Given the description of an element on the screen output the (x, y) to click on. 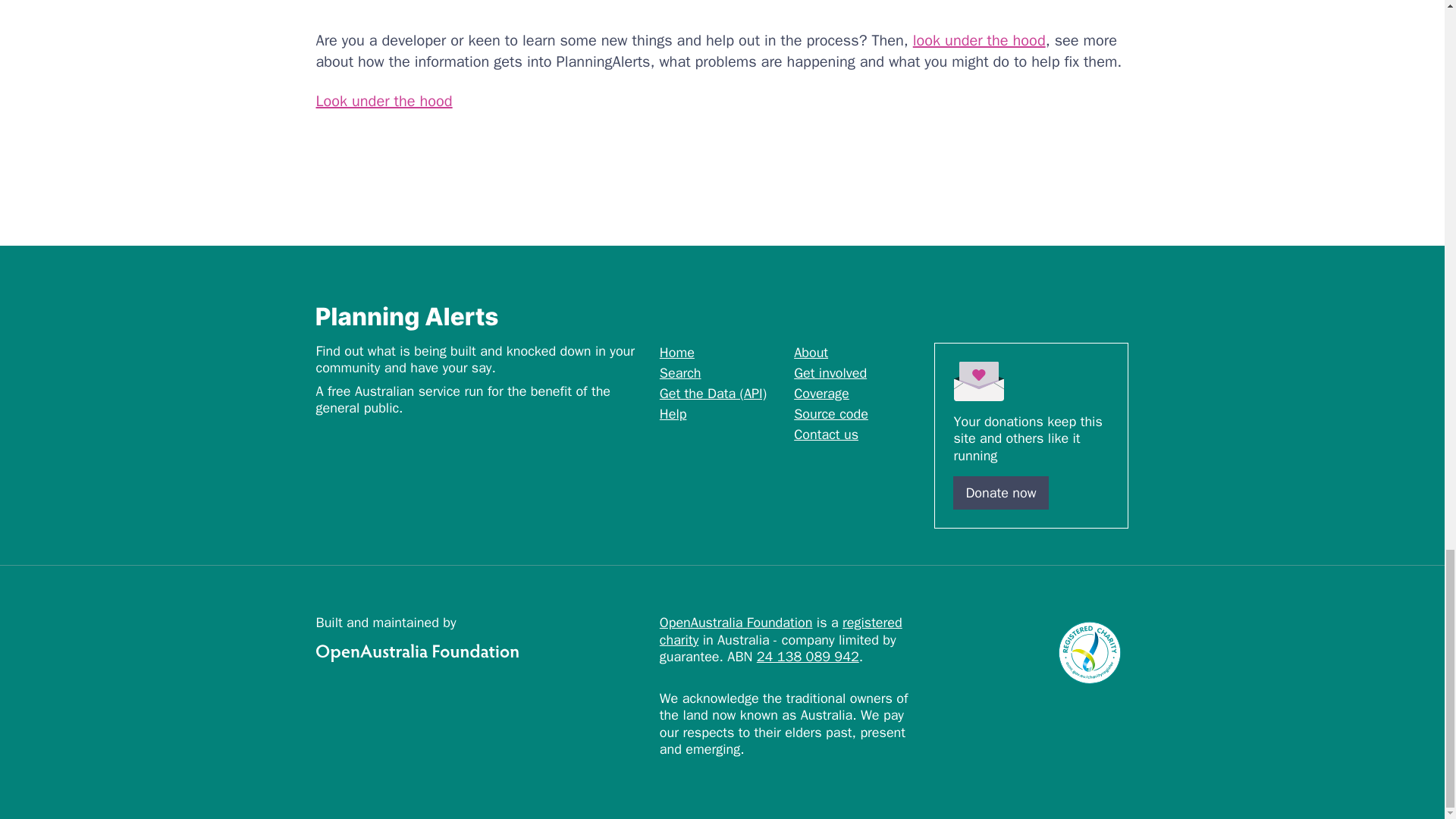
OpenAustralia Foundation (735, 622)
Source code (830, 413)
Donate now (1000, 492)
Search (680, 372)
About (810, 352)
look under the hood (978, 40)
Get involved (829, 372)
Contact us (826, 434)
Coverage (820, 393)
Look under the hood (383, 100)
Home (676, 352)
OpenAustralia Foundation (480, 652)
Help (673, 413)
